Given the description of an element on the screen output the (x, y) to click on. 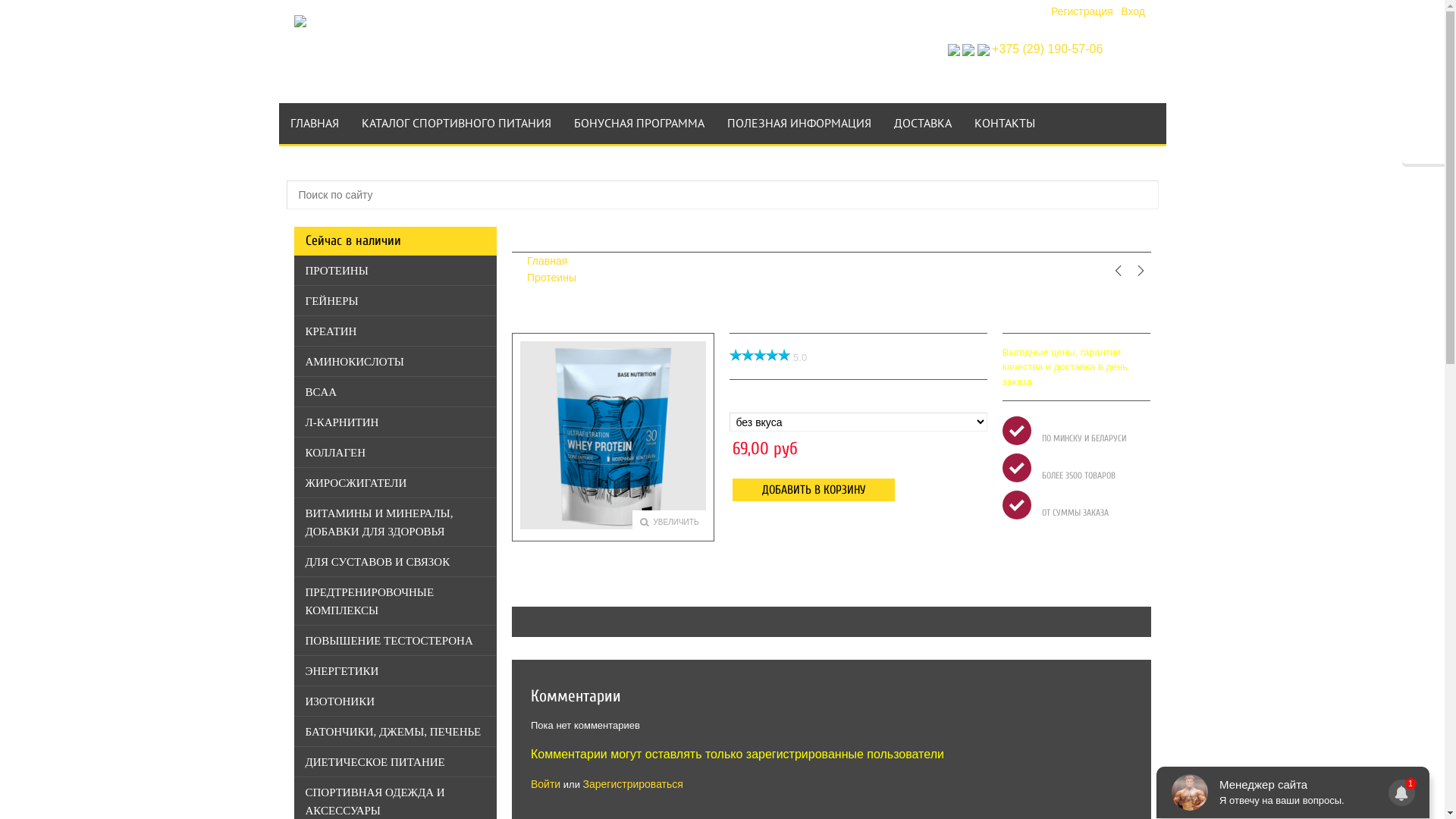
+ Element type: hover (1016, 504)
  Element type: text (1117, 270)
+ Element type: hover (1016, 467)
BCAA  Element type: text (395, 391)
+375 (29) 190-57-06 Element type: text (1046, 49)
+ Element type: hover (1016, 430)
  Element type: text (1140, 270)
